Given the description of an element on the screen output the (x, y) to click on. 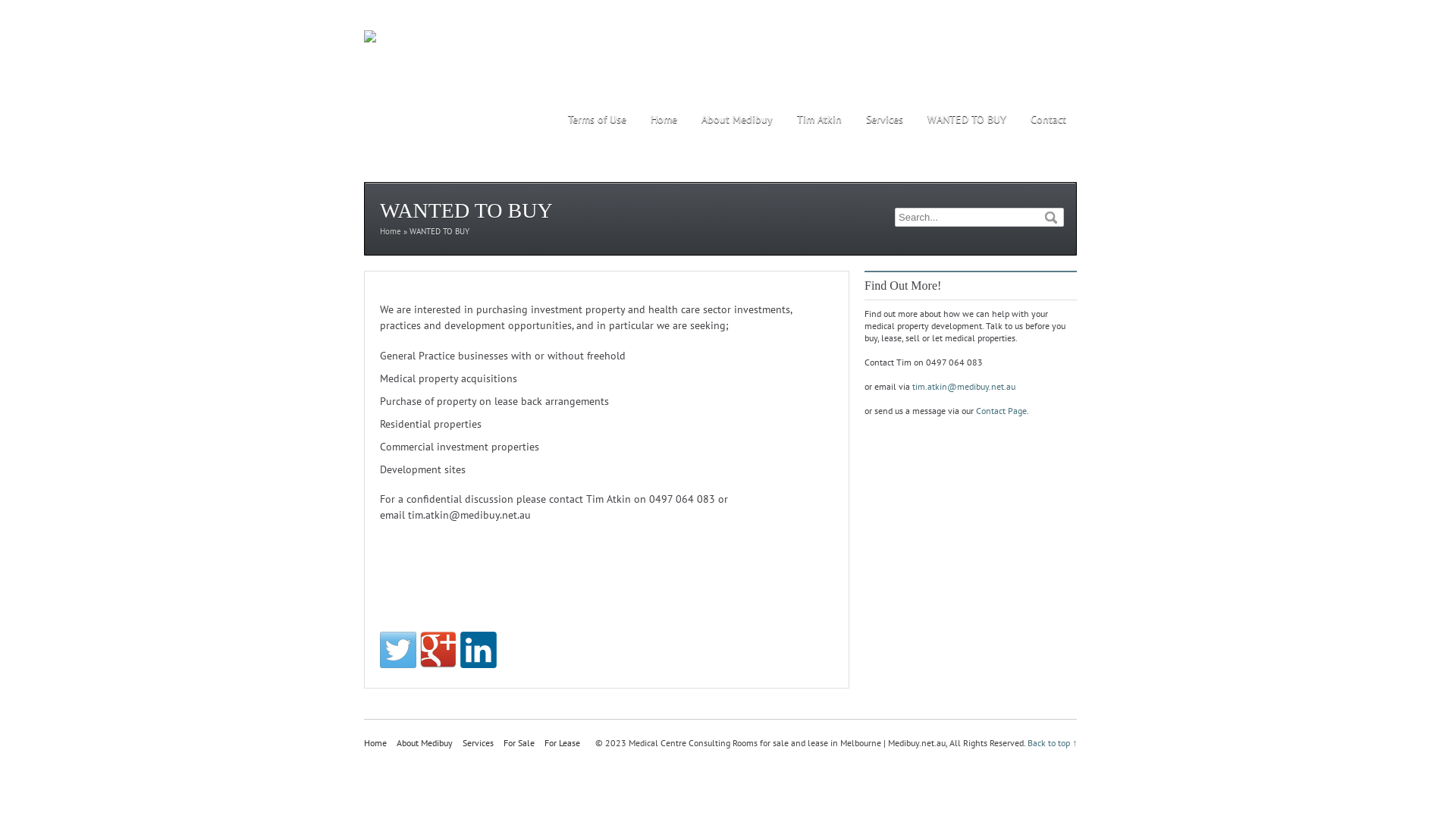
About Medibuy Element type: text (736, 118)
Home Element type: text (390, 230)
For Sale Element type: text (518, 742)
Services Element type: text (477, 742)
About Medibuy Element type: text (424, 742)
Home Element type: text (375, 742)
Services Element type: text (884, 118)
Tim Atkin Element type: text (819, 118)
Follow us on Twitter Element type: hover (397, 649)
WANTED TO BUY Element type: text (966, 118)
Contact Element type: text (1047, 118)
tim.atkin@medibuy.net.au Element type: text (963, 386)
Home Element type: text (663, 118)
Find us on Linkedin Element type: hover (478, 649)
For Lease Element type: text (562, 742)
Terms of Use Element type: text (597, 118)
Contact Page Element type: text (1000, 410)
Follow us on Google+ Element type: hover (438, 649)
